Given the description of an element on the screen output the (x, y) to click on. 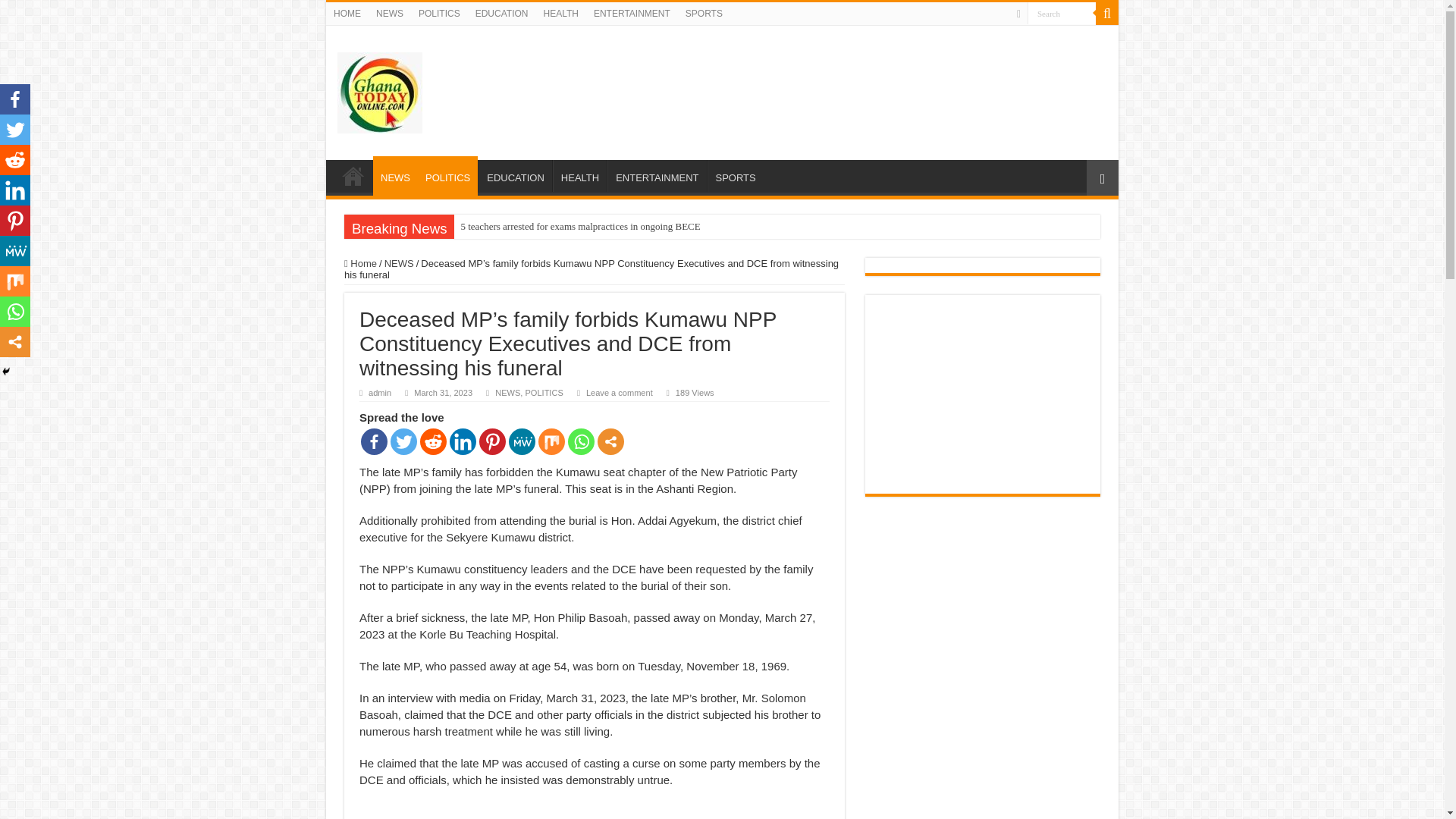
Rss (1018, 13)
HEALTH (560, 13)
Ghanatodayonline.com (379, 90)
Search (1061, 13)
ENTERTAINMENT (656, 175)
Search (1061, 13)
EDUCATION (501, 13)
Search (1061, 13)
POLITICS (438, 13)
SPORTS (704, 13)
NEWS (398, 263)
EDUCATION (515, 175)
5 teachers arrested for exams malpractices in ongoing BECE (580, 226)
NEWS (394, 175)
